Given the description of an element on the screen output the (x, y) to click on. 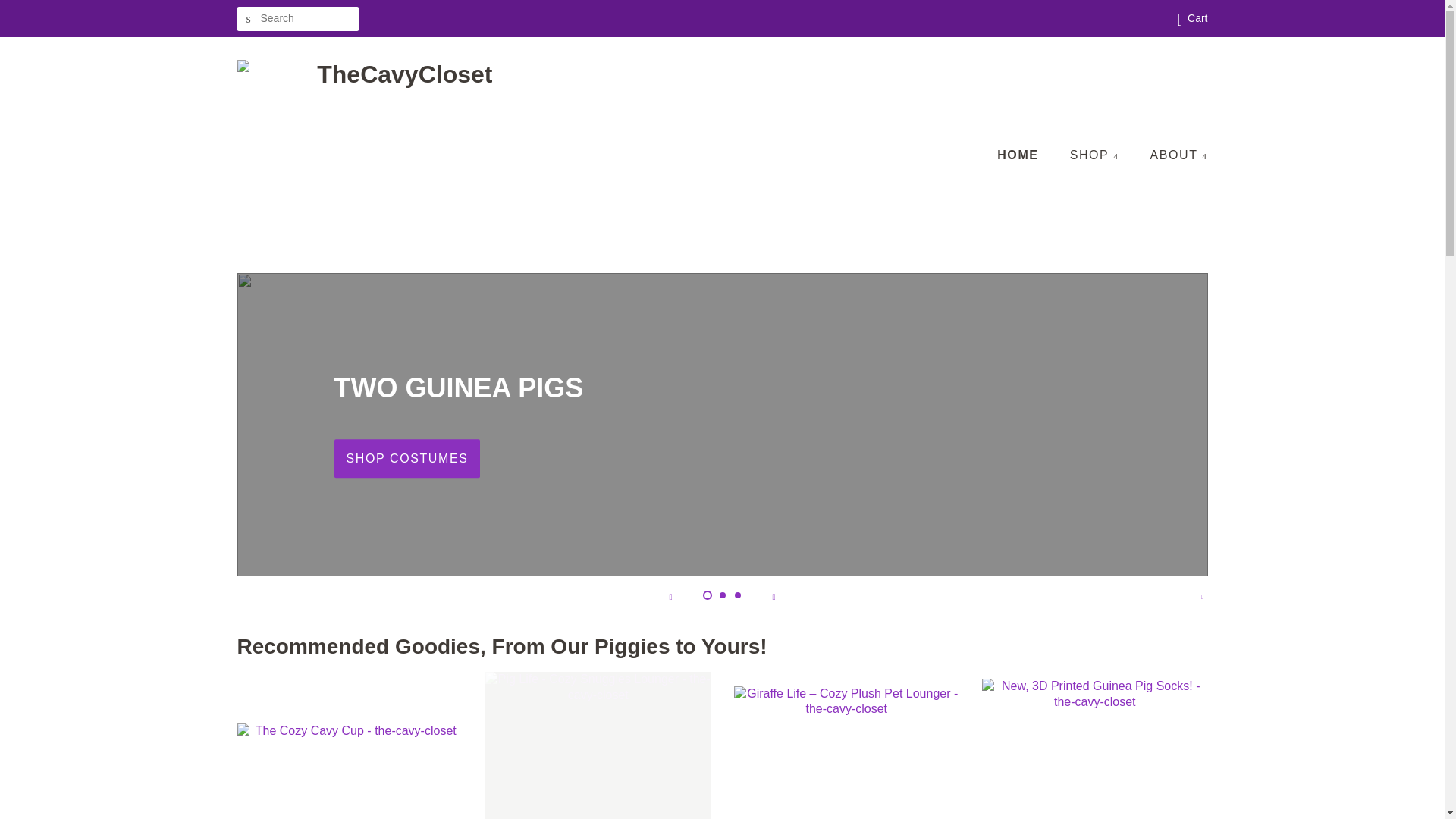
Cart (1197, 18)
3 (736, 594)
HOME (1024, 154)
1 (706, 594)
SHOP COSTUMES (406, 457)
SEARCH (247, 18)
ABOUT (1172, 154)
SHOP (1096, 154)
2 (721, 594)
